Given the description of an element on the screen output the (x, y) to click on. 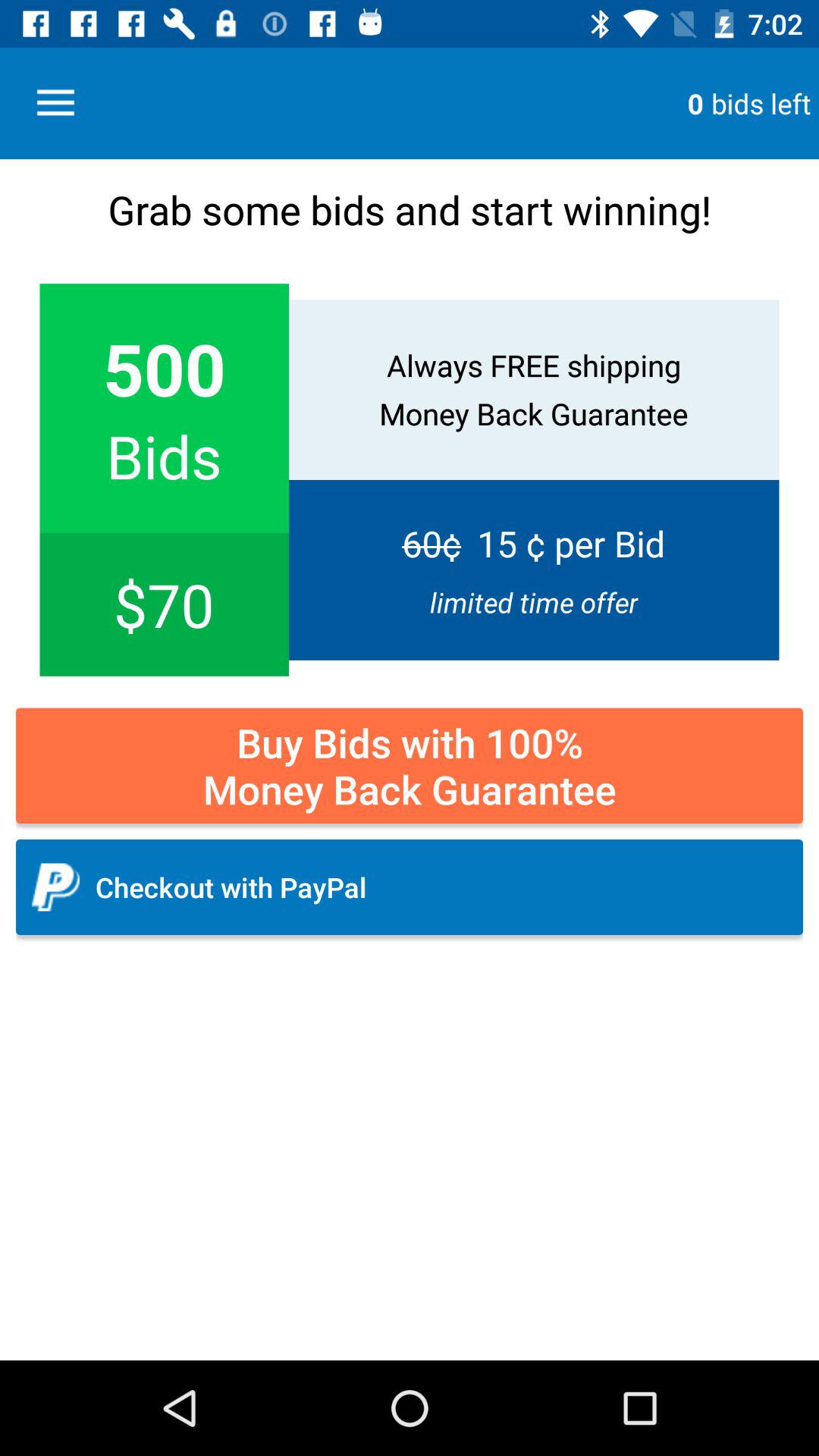
swipe until buy bids with item (409, 765)
